Given the description of an element on the screen output the (x, y) to click on. 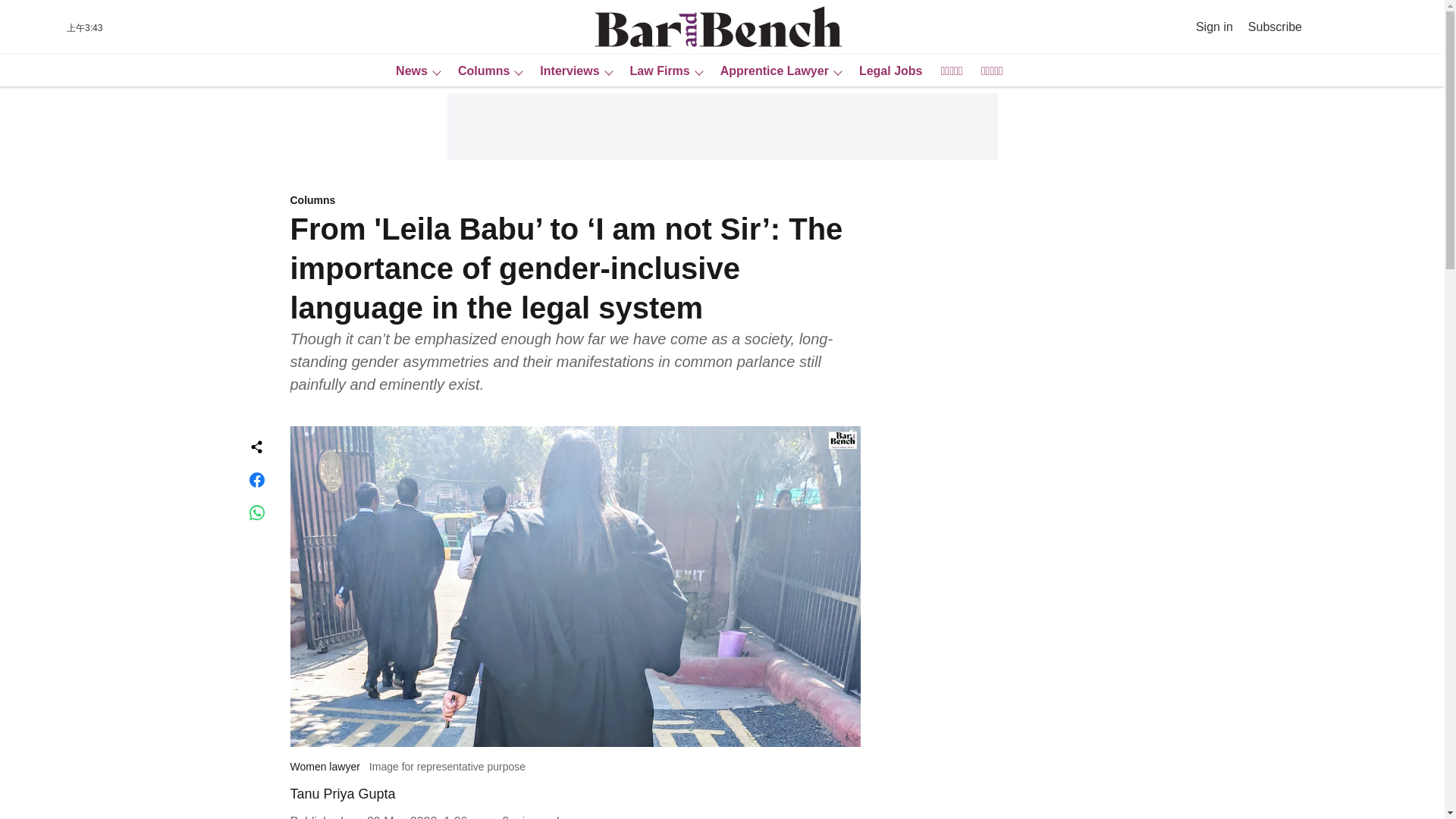
Columns (478, 71)
News (407, 71)
3rd party ad content (1015, 551)
Columns (574, 201)
Tanu Priya Gupta (341, 793)
Interviews (564, 71)
Apprentice Lawyer (769, 71)
Legal Jobs (886, 71)
Law Firms (655, 71)
3rd party ad content (721, 126)
2023-05-29 05:26 (426, 816)
